Given the description of an element on the screen output the (x, y) to click on. 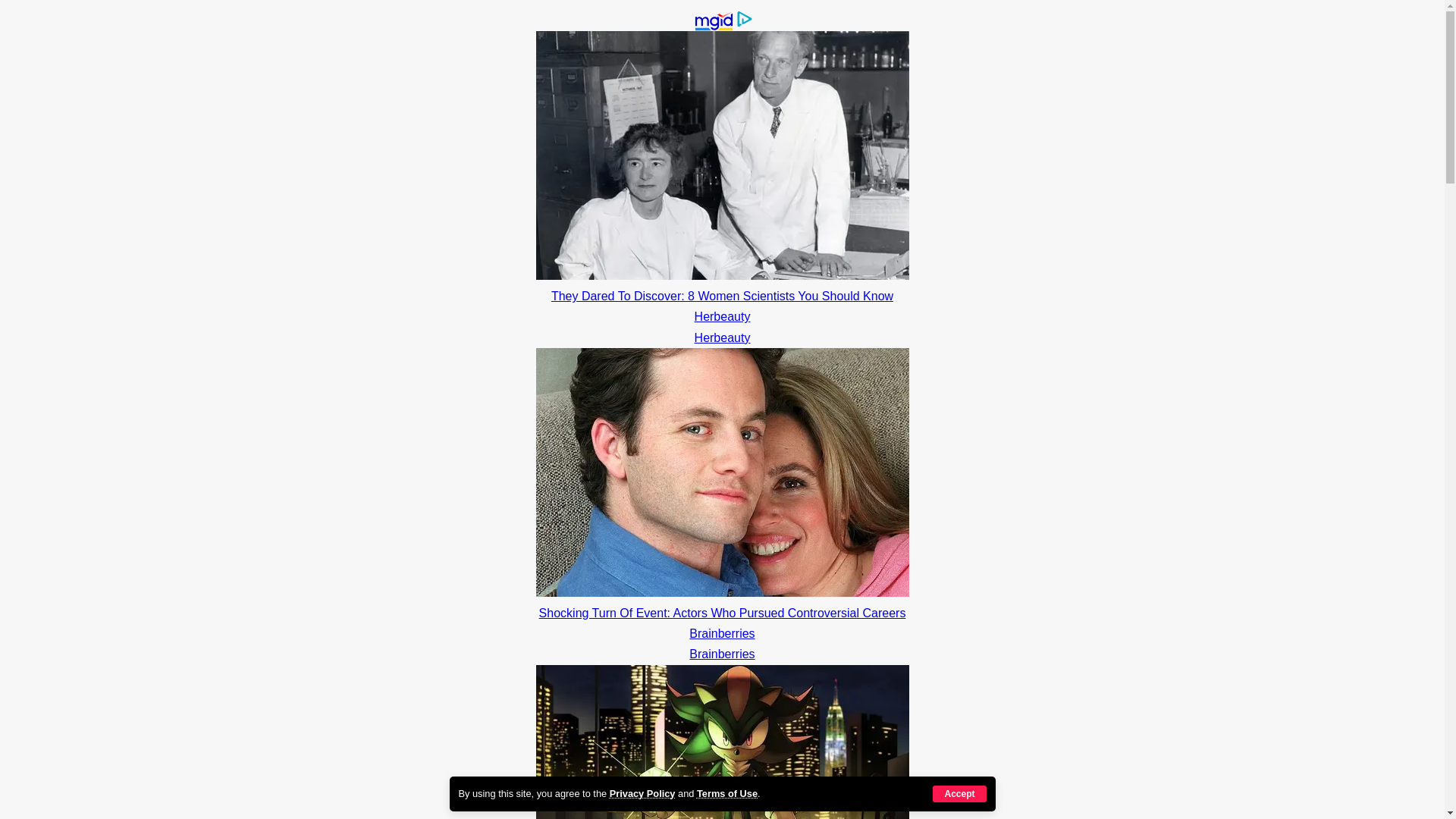
Accept (959, 793)
Terms of Use (727, 793)
Privacy Policy (642, 793)
